Given the description of an element on the screen output the (x, y) to click on. 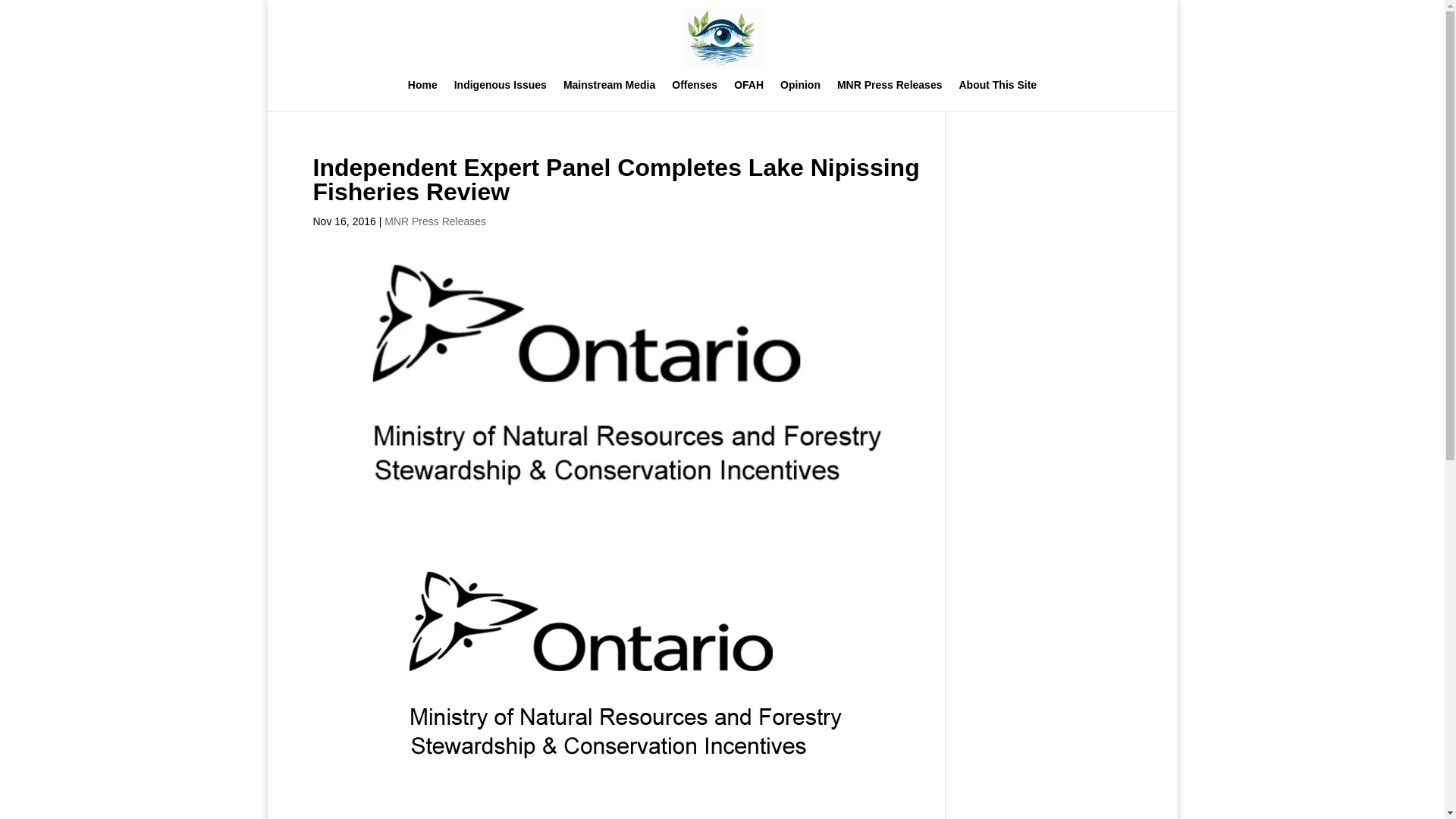
Indigenous Issues (500, 95)
MNR Press Releases (889, 95)
MNR Press Releases (435, 221)
OFAH (747, 95)
About This Site (997, 95)
Home (422, 95)
Mainstream Media (609, 95)
Offenses (694, 95)
Opinion (800, 95)
